Given the description of an element on the screen output the (x, y) to click on. 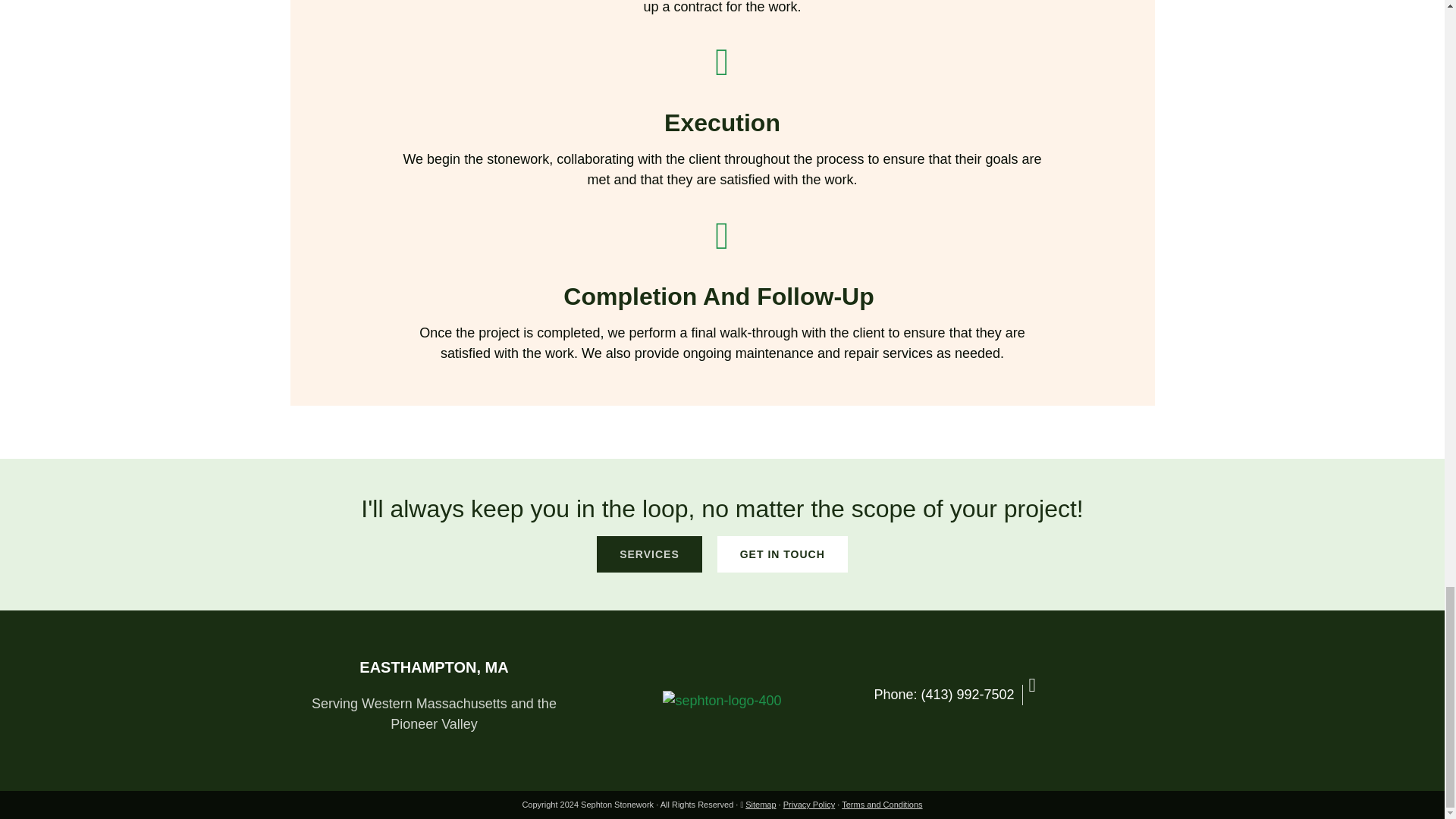
sephton-logo-400 (721, 701)
SERVICES (648, 554)
Terms and Conditions (881, 804)
Sitemap (760, 804)
GET IN TOUCH (782, 554)
Privacy Policy (808, 804)
